Given the description of an element on the screen output the (x, y) to click on. 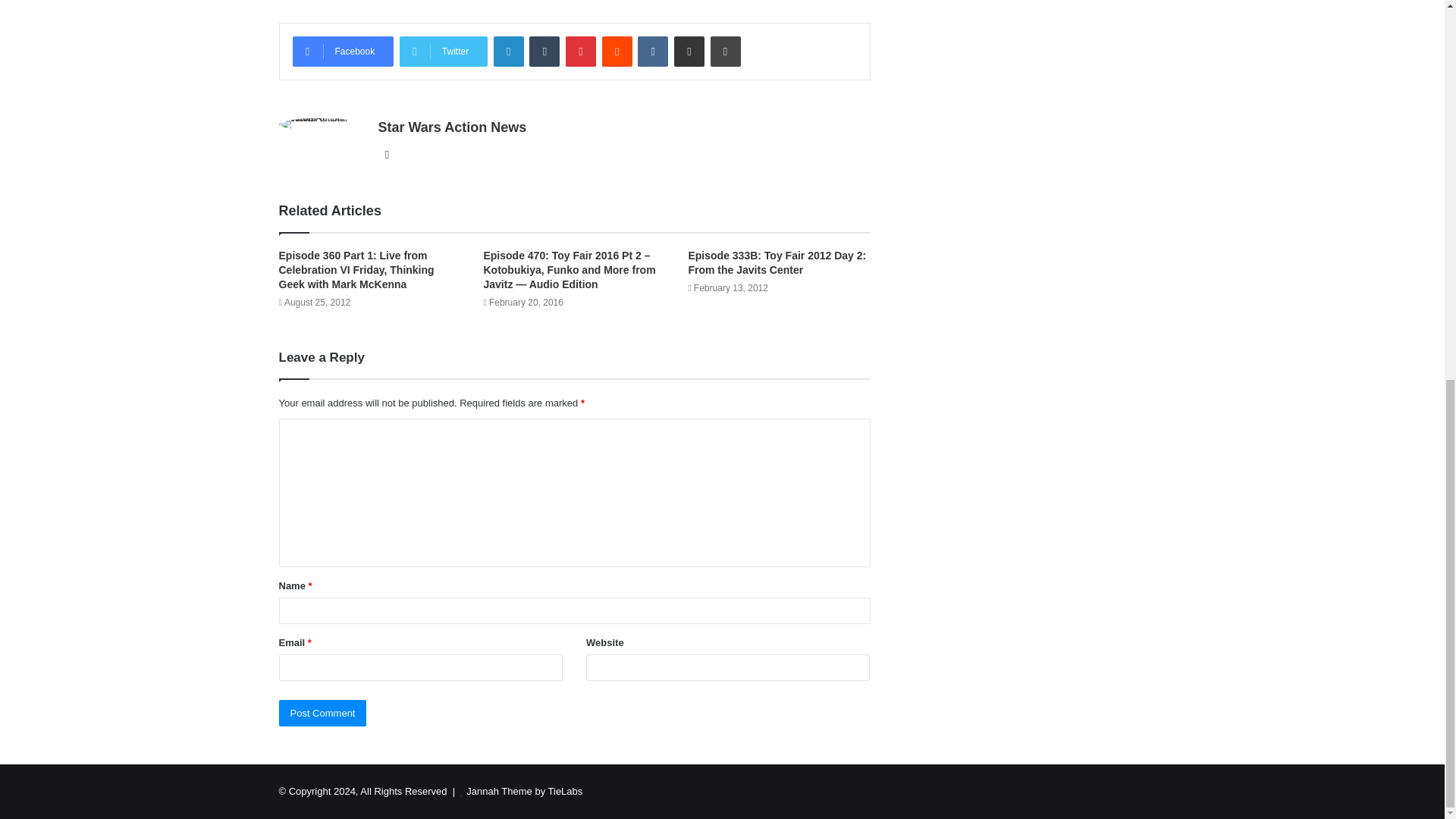
Facebook (343, 51)
Pinterest (580, 51)
Tumblr (544, 51)
Share via Email (689, 51)
Pinterest (580, 51)
Jannah Theme by TieLabs (523, 790)
Print (725, 51)
Episode 333B: Toy Fair 2012 Day 2: From the Javits Center (776, 262)
Share via Email (689, 51)
LinkedIn (508, 51)
Twitter (442, 51)
Reddit (616, 51)
Facebook (343, 51)
VKontakte (652, 51)
VKontakte (652, 51)
